Given the description of an element on the screen output the (x, y) to click on. 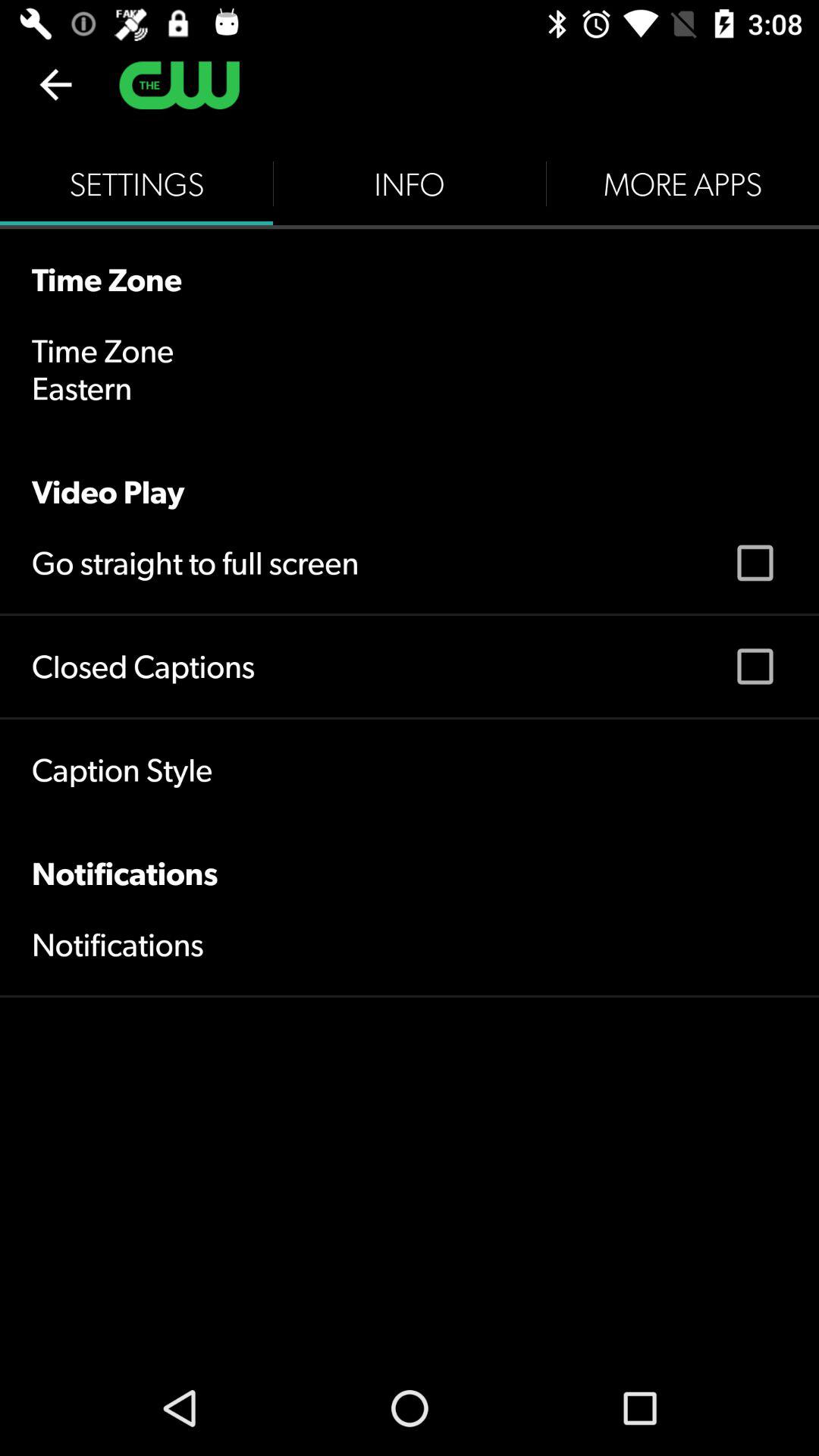
click the go straight to item (194, 562)
